Given the description of an element on the screen output the (x, y) to click on. 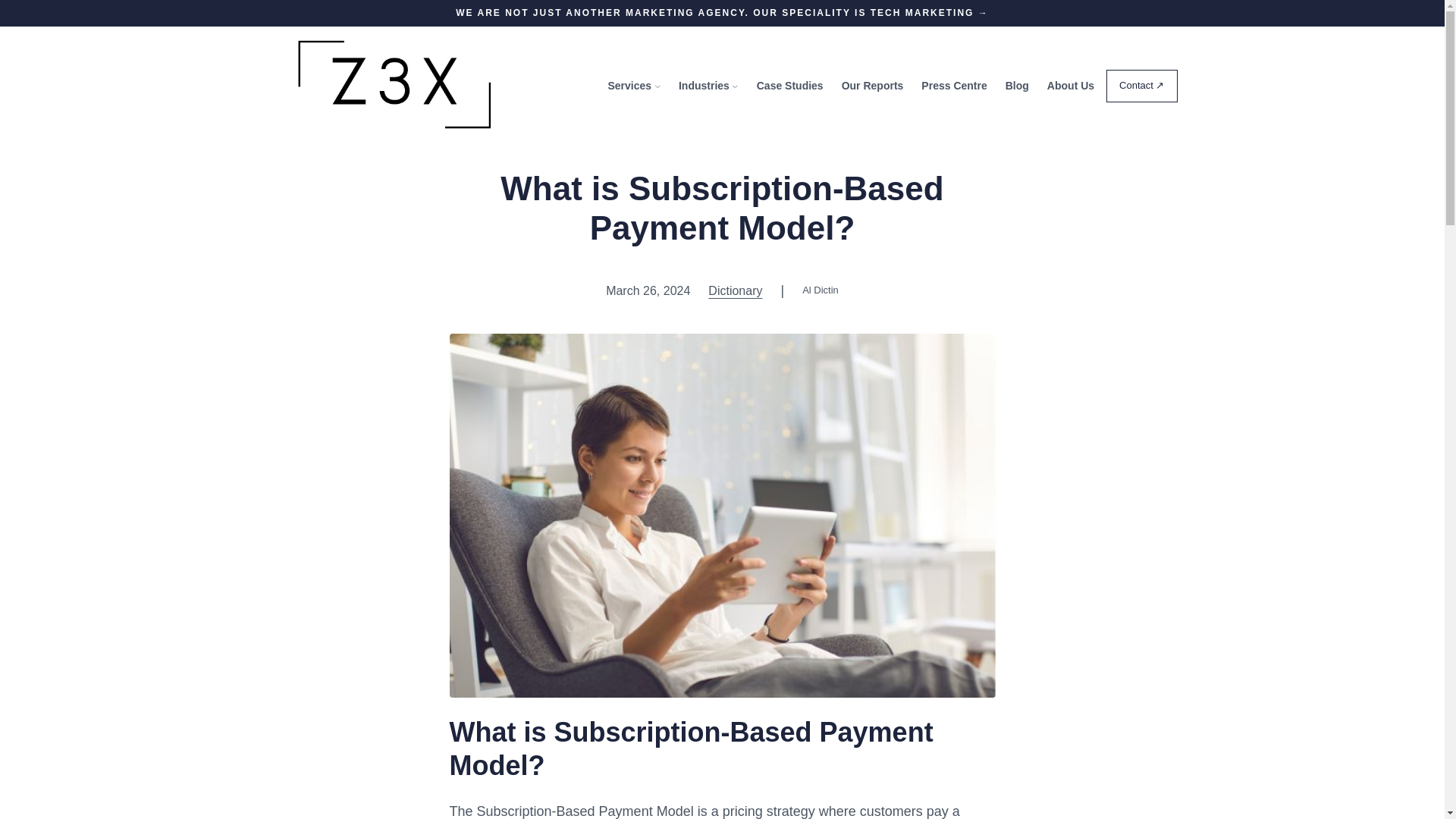
Case Studies (790, 85)
About Us (1070, 85)
Dictionary (734, 290)
Blog (1017, 85)
Industries (703, 85)
Our Reports (872, 85)
Services (628, 85)
Press Centre (954, 85)
